Given the description of an element on the screen output the (x, y) to click on. 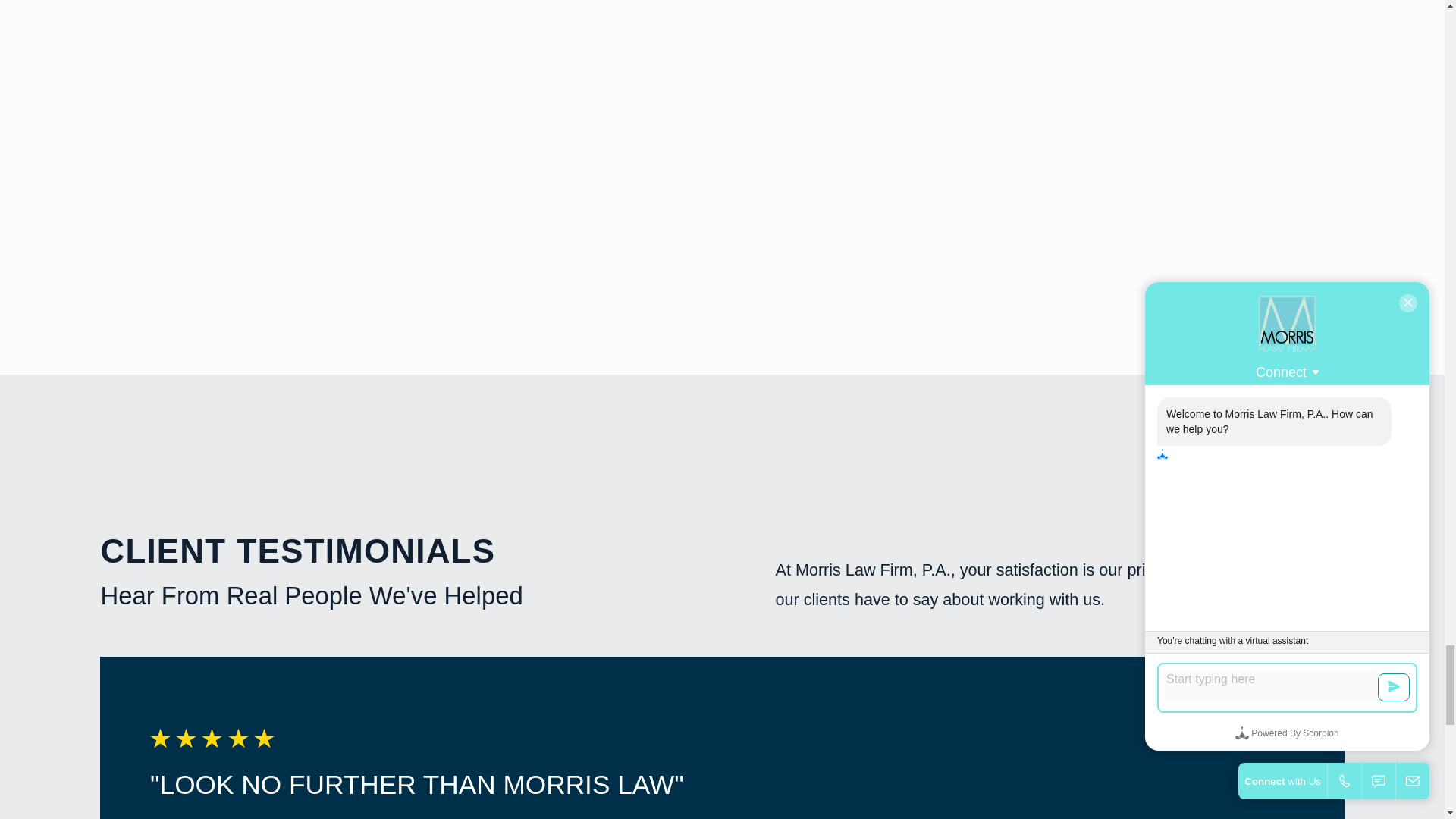
5 Star Rating (721, 738)
